Given the description of an element on the screen output the (x, y) to click on. 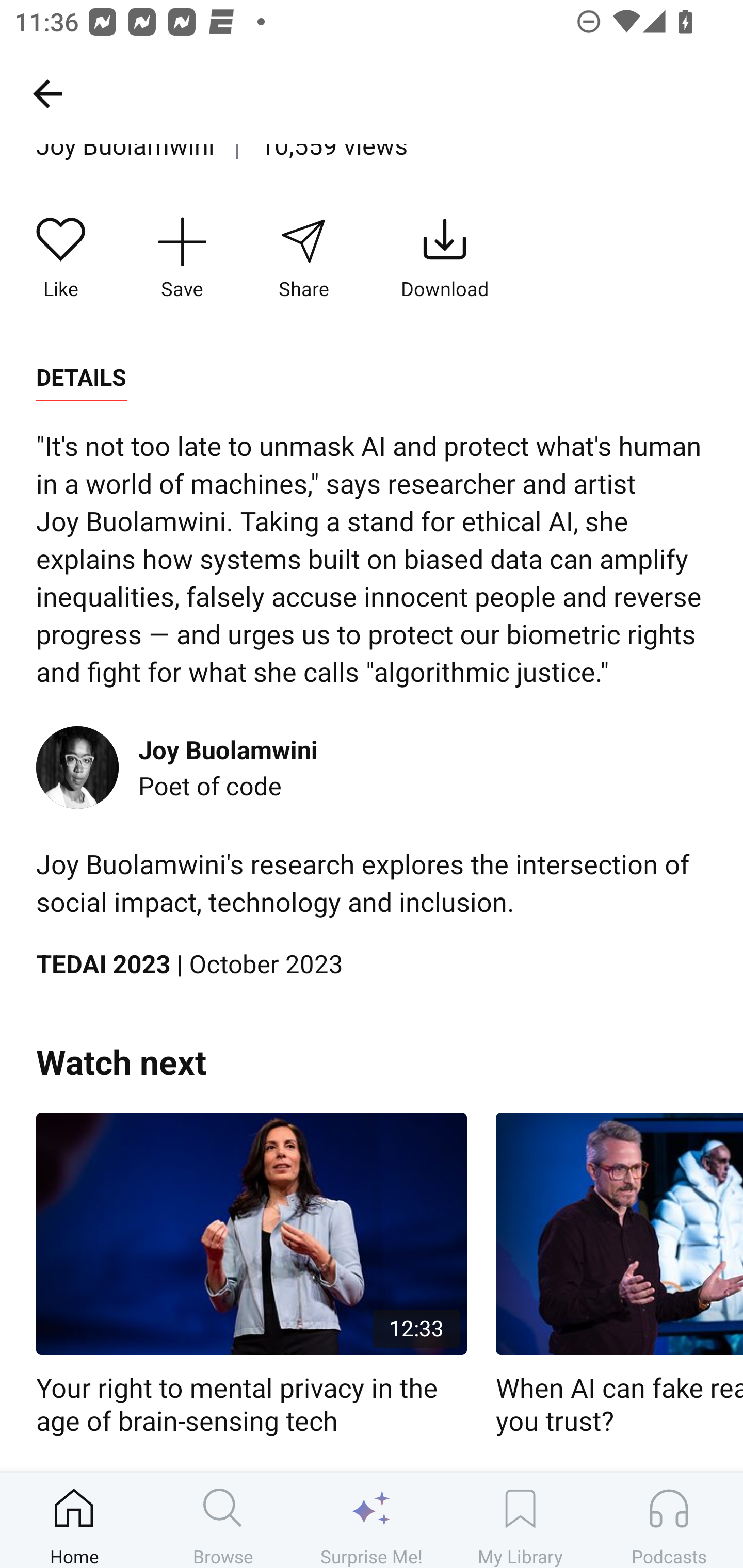
Home, back (47, 92)
Like (60, 258)
Save (181, 258)
Share (302, 258)
Download (444, 258)
DETAILS (80, 377)
When AI can fake reality, who can you trust? (619, 1275)
Home (74, 1520)
Browse (222, 1520)
Surprise Me! (371, 1520)
My Library (519, 1520)
Podcasts (668, 1520)
